Given the description of an element on the screen output the (x, y) to click on. 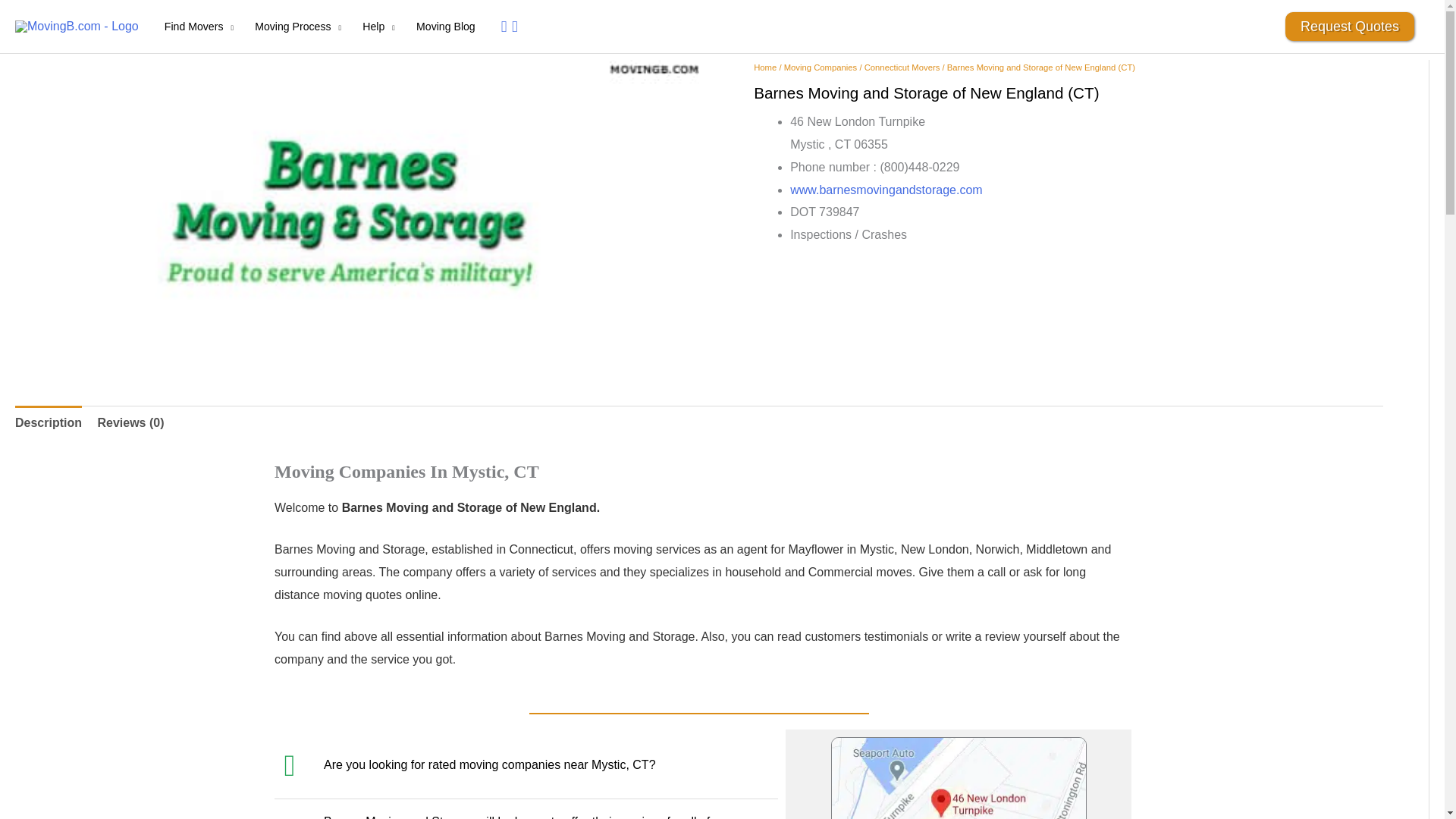
Help (379, 26)
Find Movers (199, 26)
Moving Blog (446, 26)
Request Quotes (1349, 26)
Search (511, 26)
Moving Process (298, 26)
